Given the description of an element on the screen output the (x, y) to click on. 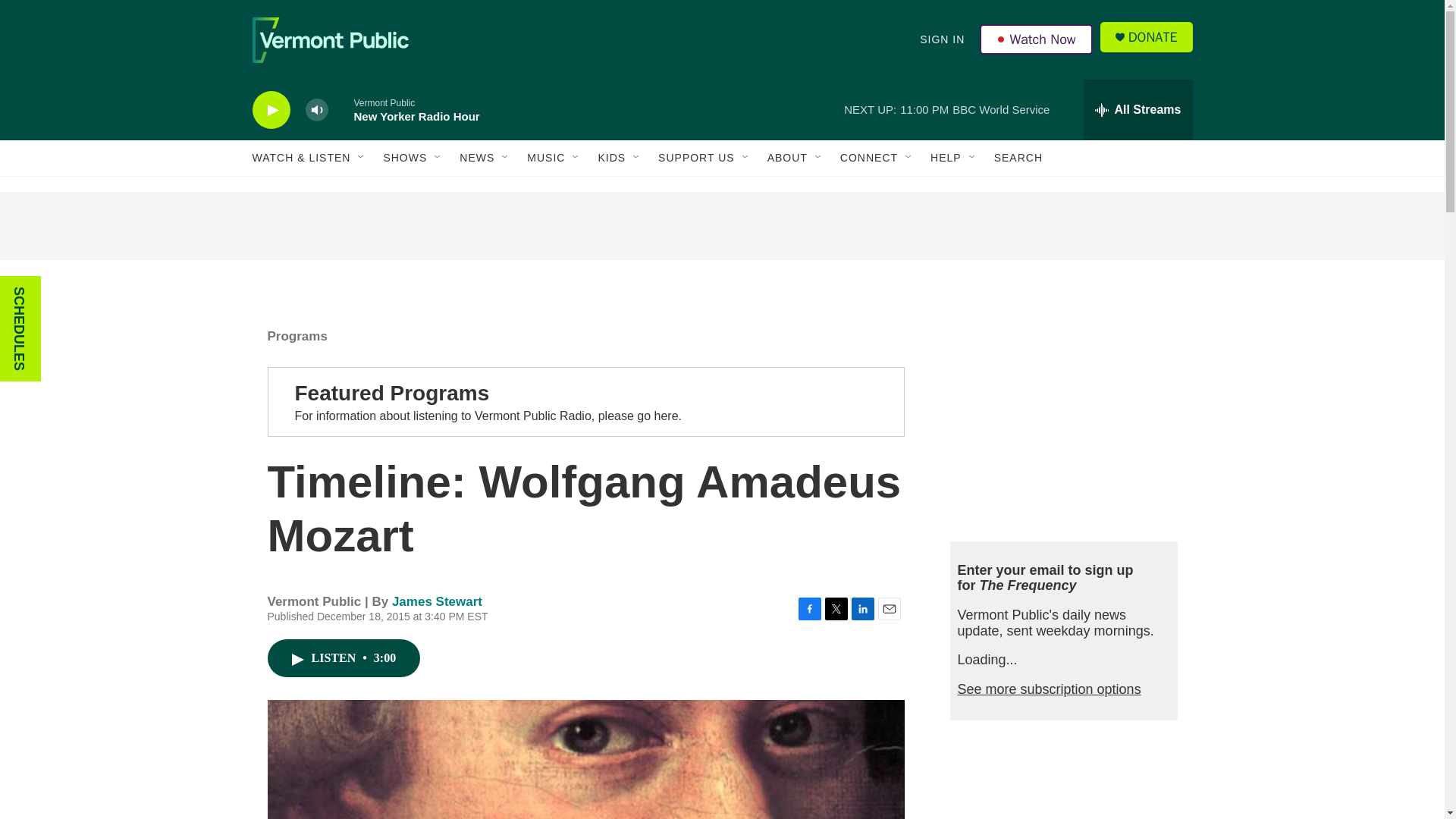
3rd party ad content (1062, 785)
3rd party ad content (1062, 416)
3rd party ad content (721, 225)
